Given the description of an element on the screen output the (x, y) to click on. 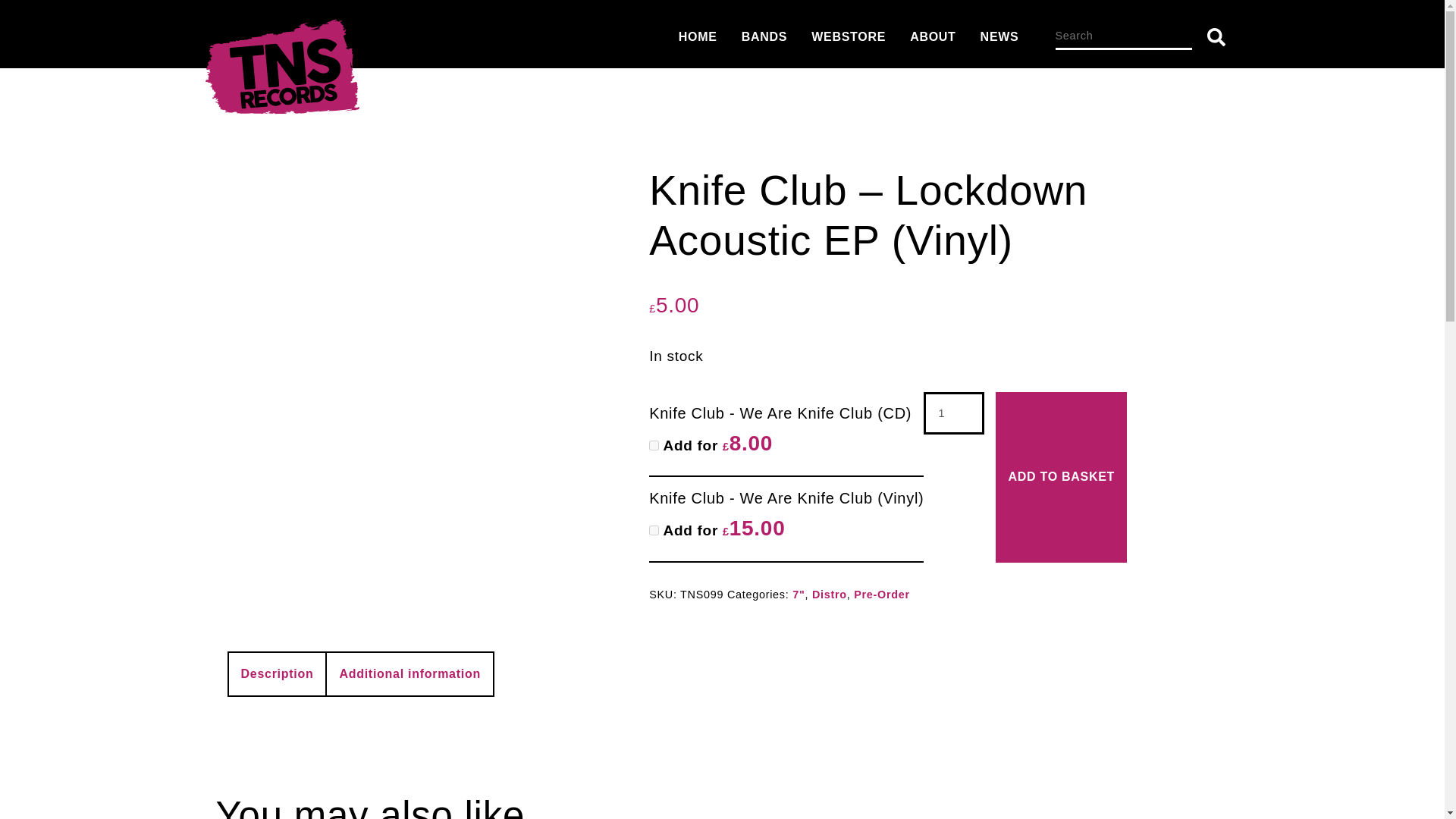
ABOUT (932, 36)
TNSrecords Home (280, 70)
BANDS (764, 36)
HOME (697, 36)
WEBSTORE (847, 36)
1 (953, 413)
NEWS (999, 36)
7" (798, 594)
